Given the description of an element on the screen output the (x, y) to click on. 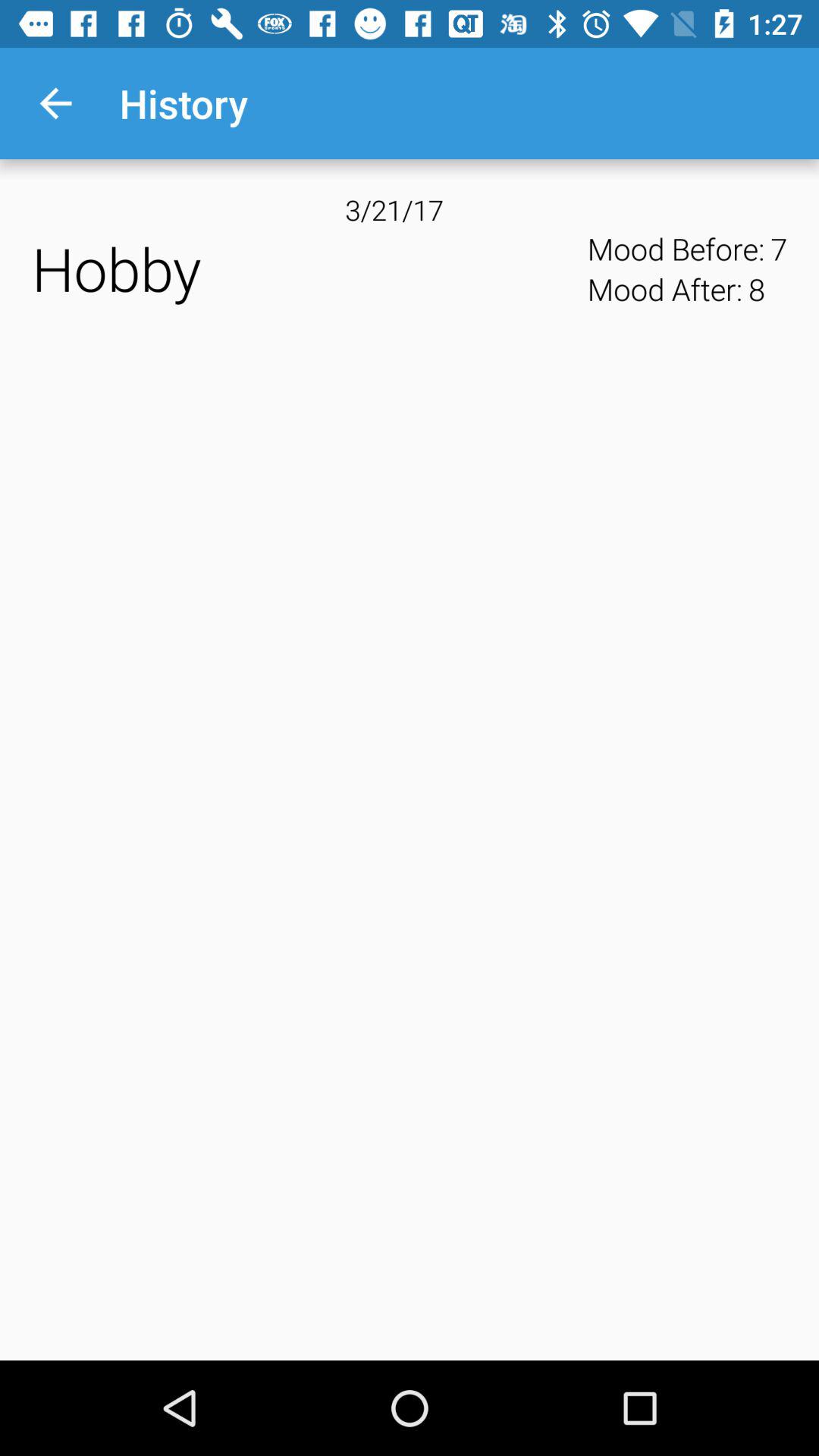
turn on the app to the left of history app (55, 103)
